Given the description of an element on the screen output the (x, y) to click on. 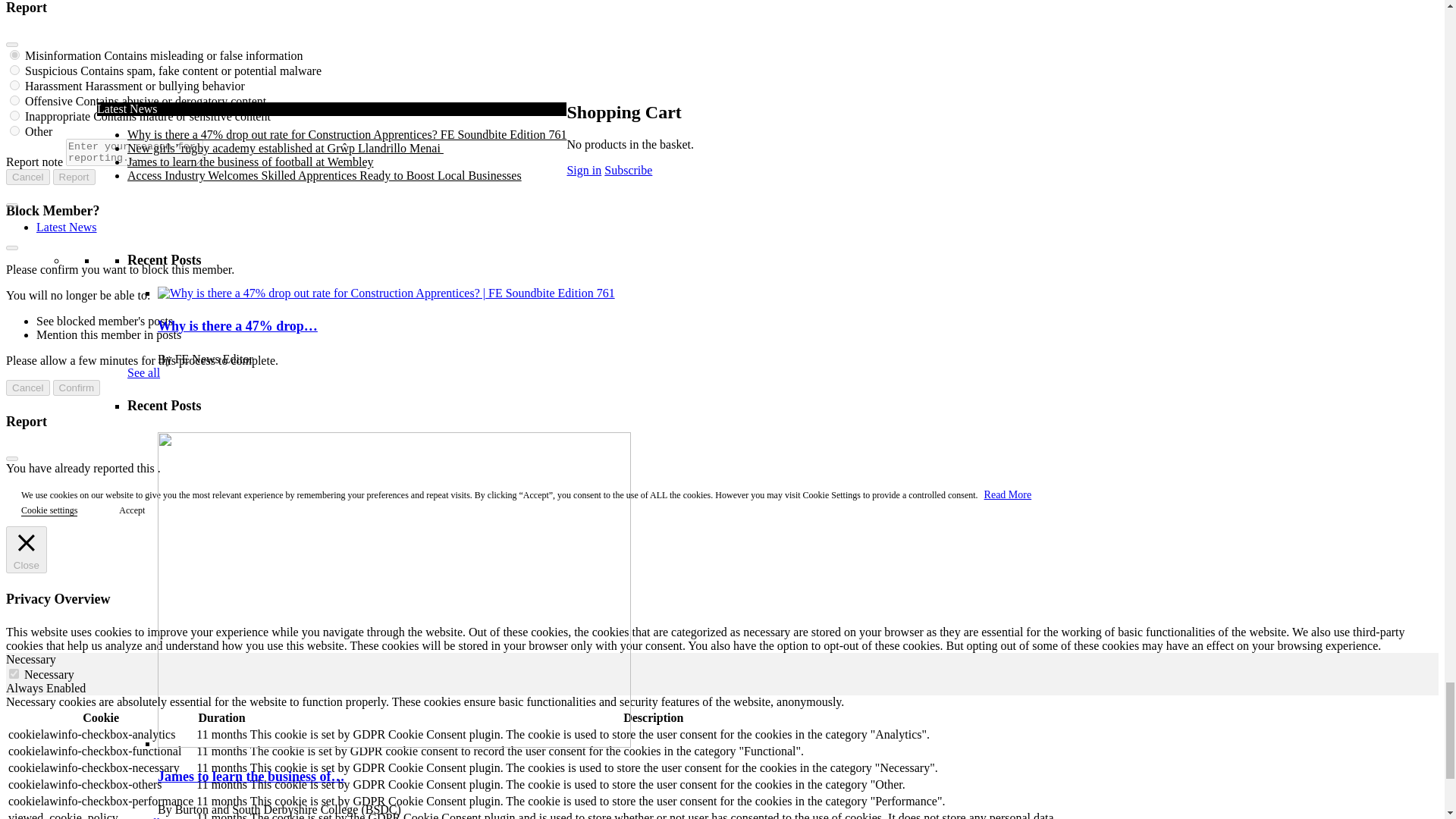
41896 (15, 54)
41897 (15, 70)
41894 (15, 100)
Cancel (27, 387)
on (13, 673)
41895 (15, 115)
Cancel (27, 176)
other (15, 130)
41898 (15, 85)
